Given the description of an element on the screen output the (x, y) to click on. 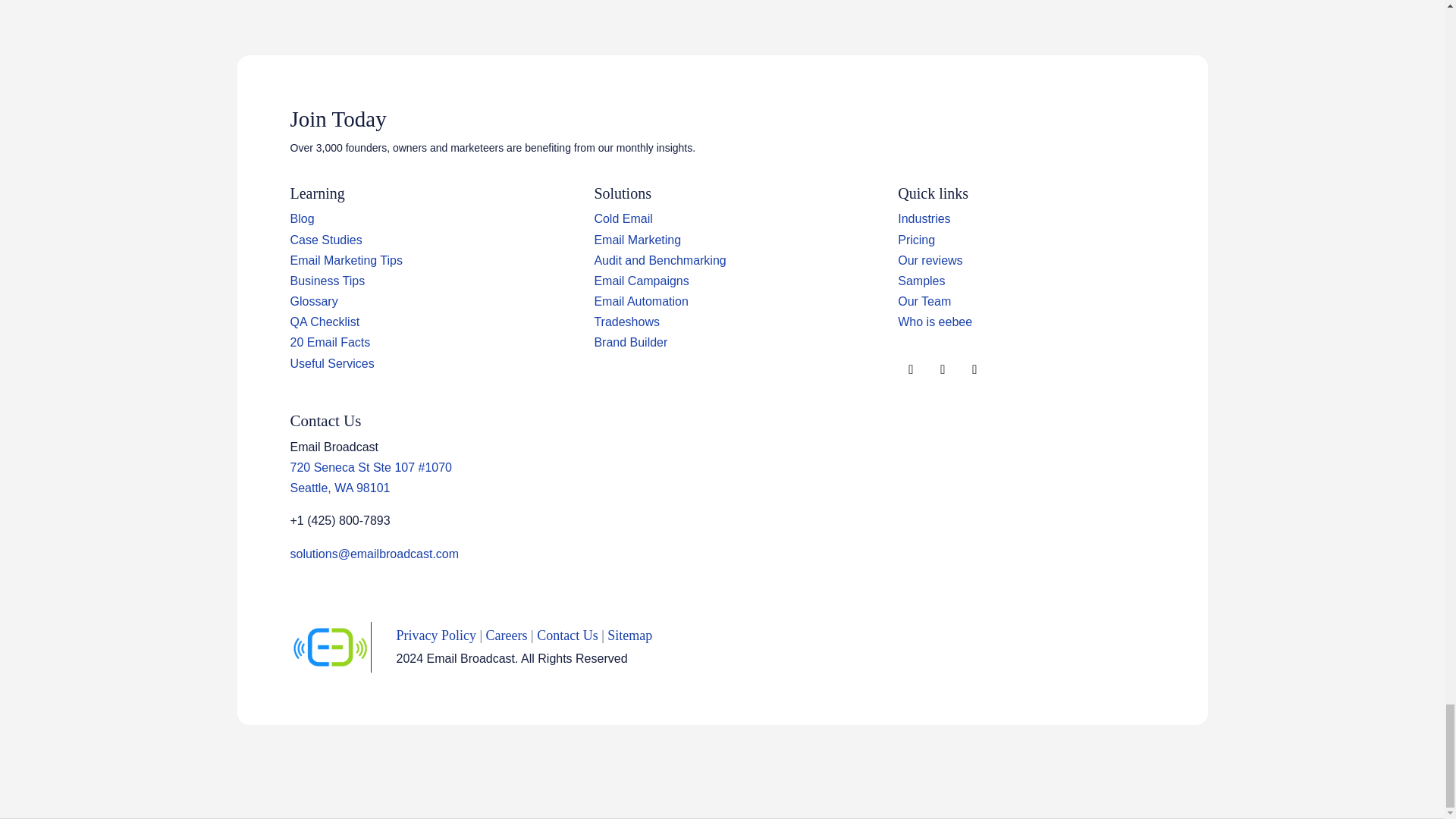
Follow on Facebook (910, 370)
